Given the description of an element on the screen output the (x, y) to click on. 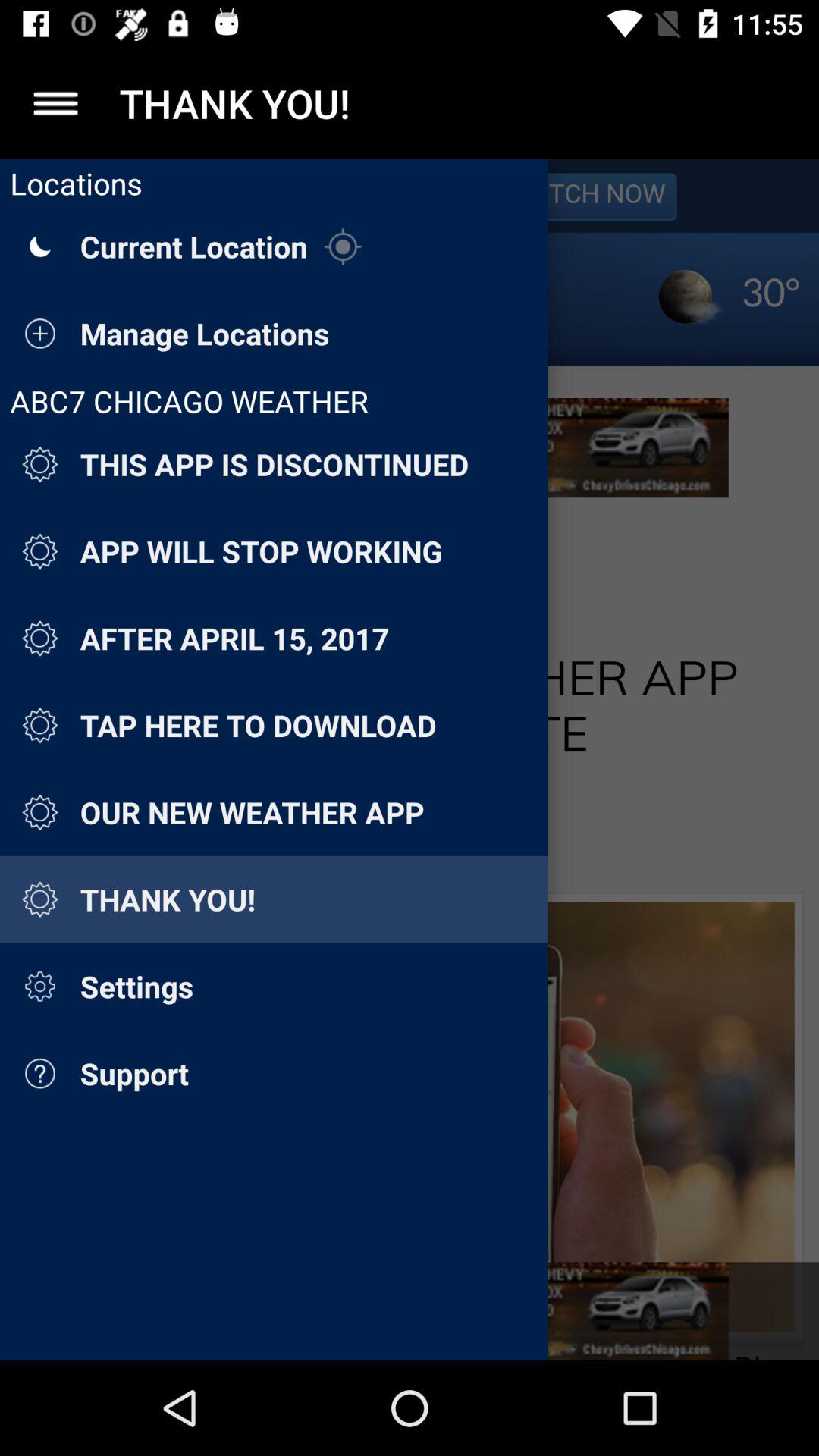
list the menu (55, 103)
